Given the description of an element on the screen output the (x, y) to click on. 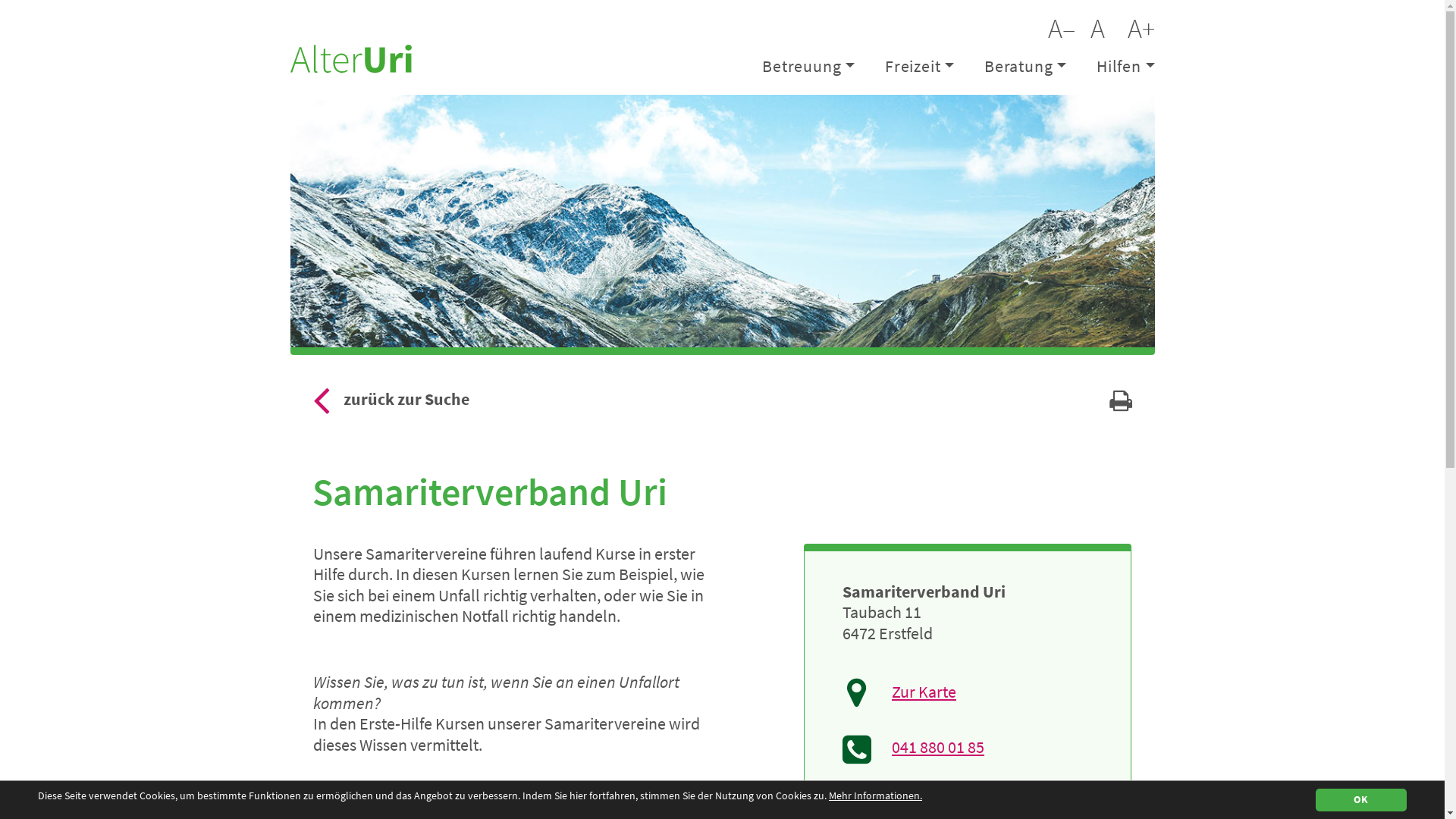
Alter Uri - Home Element type: hover (350, 56)
Beratung Element type: text (1025, 66)
041 880 01 85 Element type: text (913, 747)
Mehr Informationen. Element type: text (875, 795)
OK Element type: text (1360, 799)
Betreuung Element type: text (807, 66)
Zur Karte Element type: text (967, 691)
Seite ausdrucken Element type: hover (1119, 404)
info@samariter-uri.ch Element type: text (942, 805)
Hilfen Element type: text (1117, 66)
Freizeit Element type: text (919, 66)
